Given the description of an element on the screen output the (x, y) to click on. 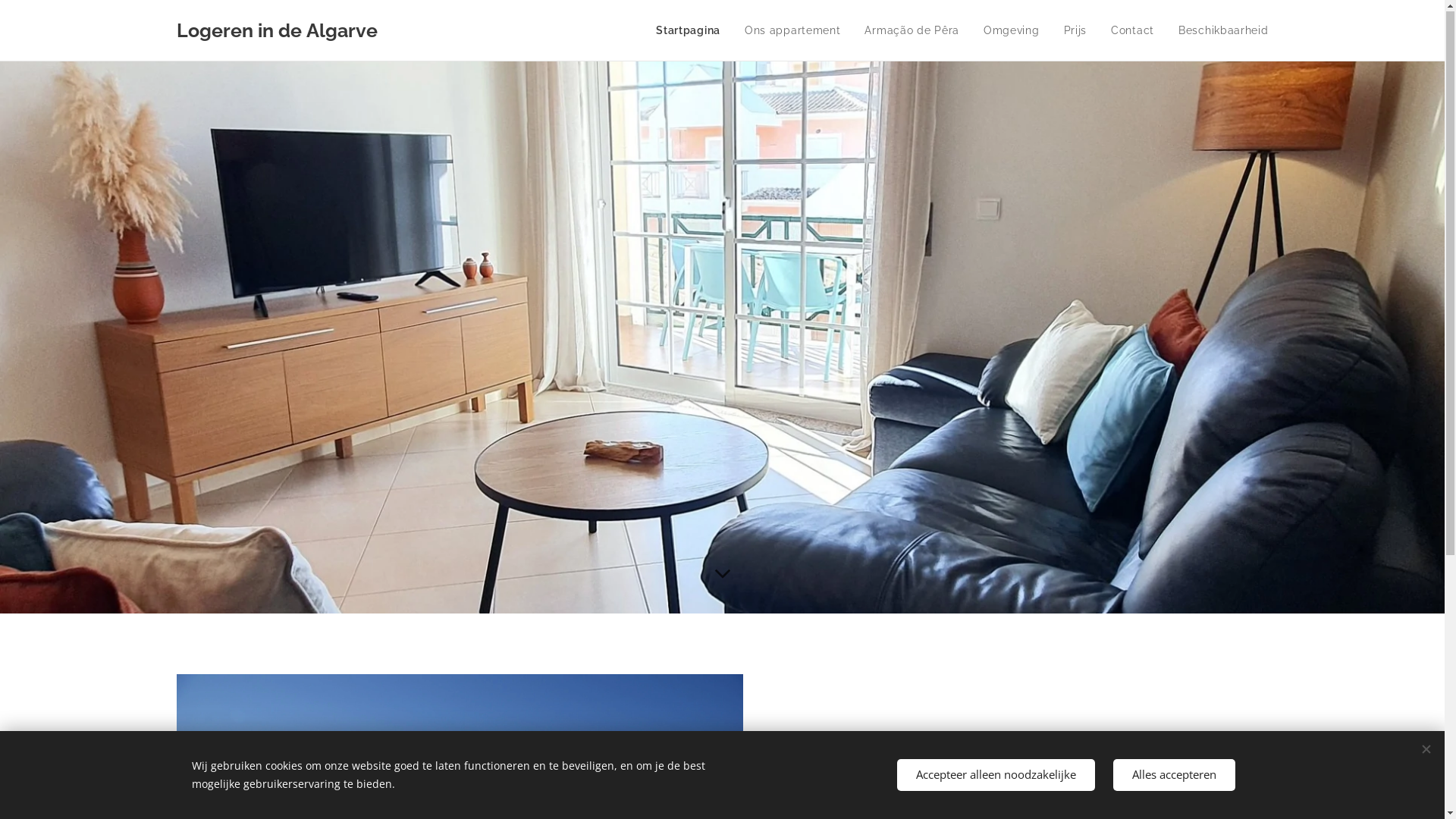
Contact Element type: text (1132, 31)
Startpagina Element type: text (692, 31)
Omgeving Element type: text (1011, 31)
Ons appartement Element type: text (792, 31)
Beschikbaarheid Element type: text (1217, 31)
Alles accepteren Element type: text (1174, 774)
Accepteer alleen noodzakelijke Element type: text (995, 774)
Prijs Element type: text (1075, 31)
